Given the description of an element on the screen output the (x, y) to click on. 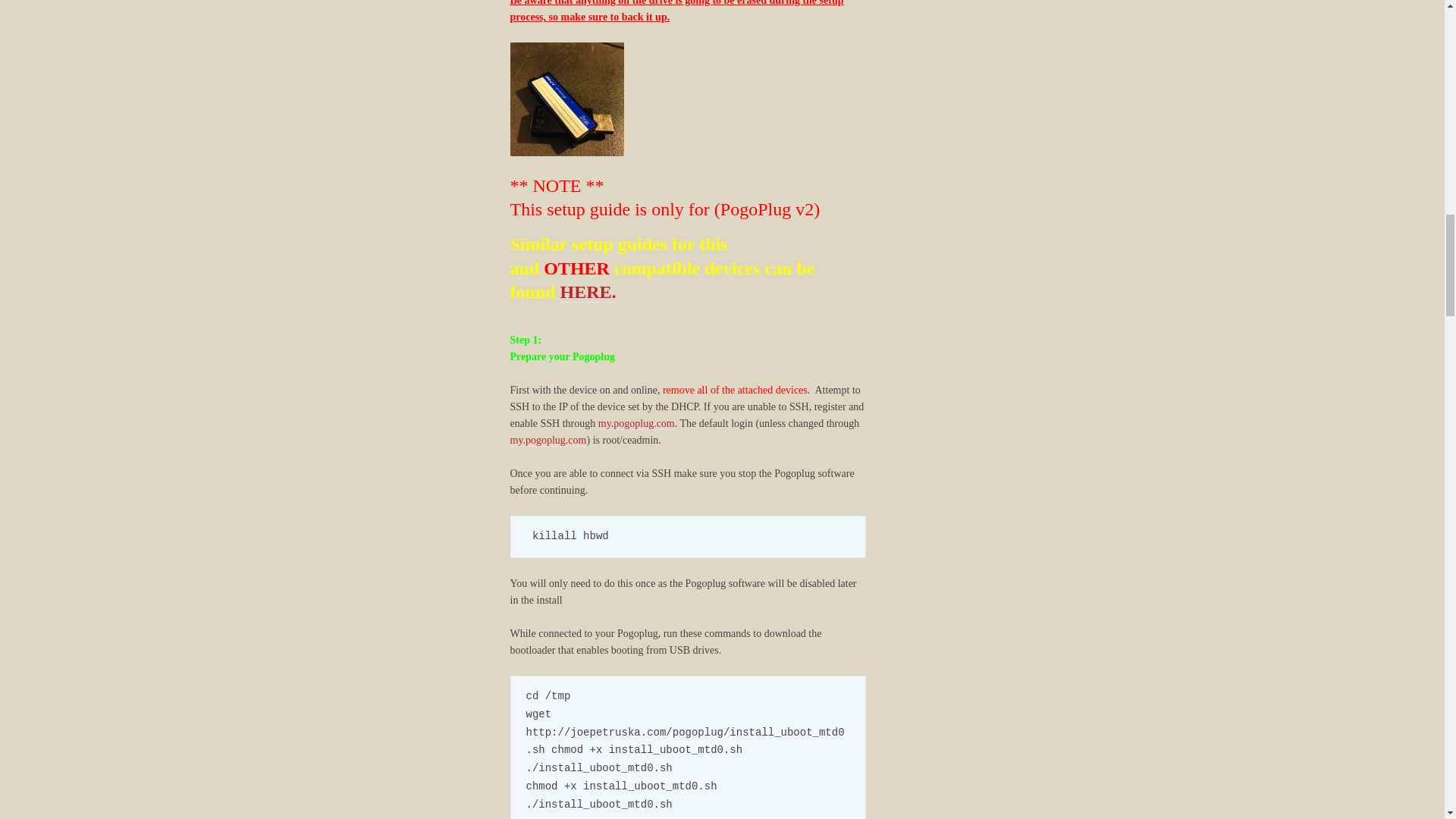
my.pogoplug.com (547, 440)
flashdrive (566, 99)
my.pogoplug.com (636, 423)
HERE. (587, 291)
